Given the description of an element on the screen output the (x, y) to click on. 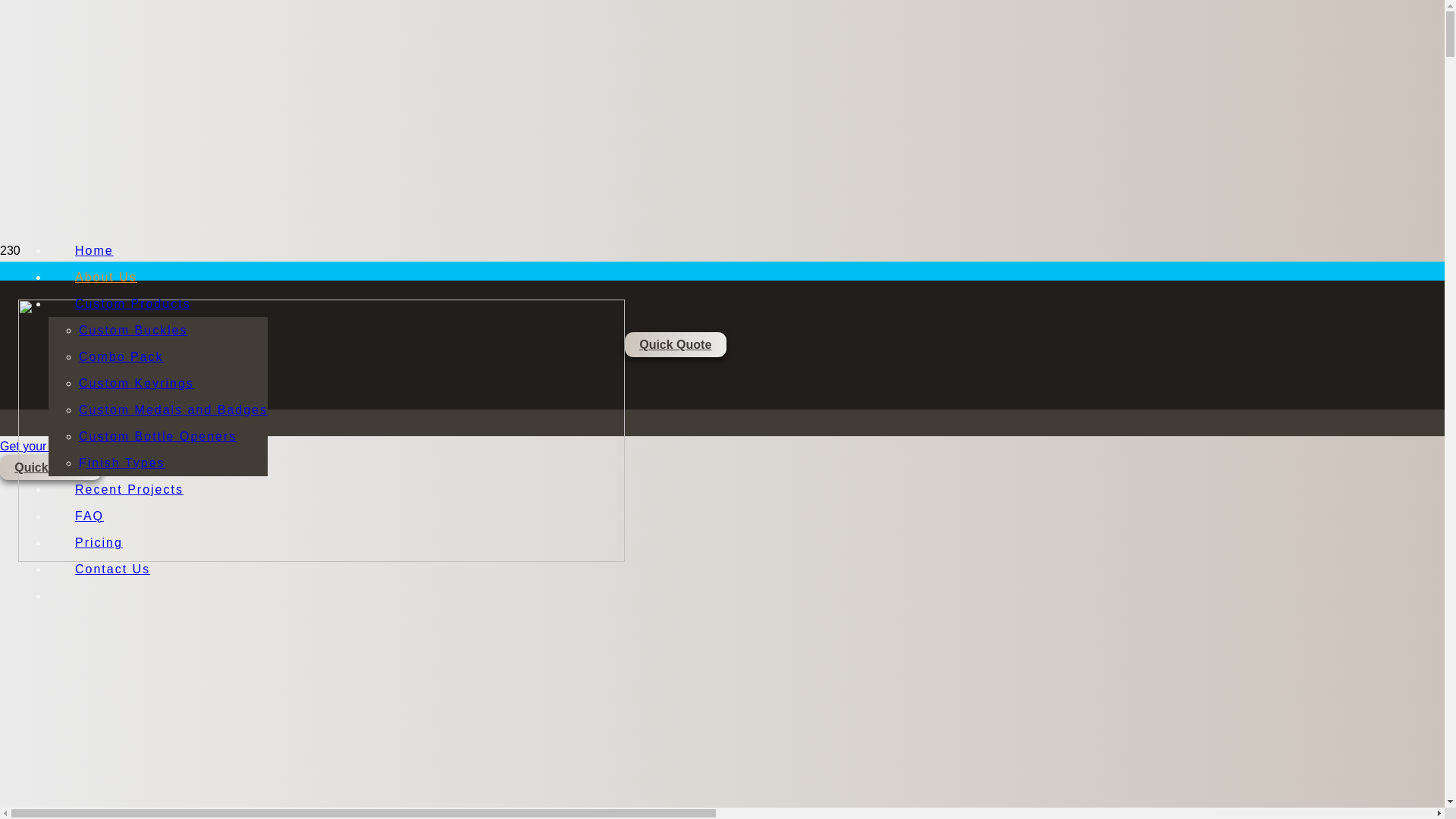
Quick Quote Element type: text (675, 344)
About Us Element type: text (105, 275)
Home Element type: text (94, 250)
Custom Bottle Openers Element type: text (157, 435)
Quick Quote Element type: text (50, 467)
Finish Types Element type: text (121, 462)
Pricing Element type: text (98, 541)
Custom Keyrings Element type: text (136, 382)
Contact Us Element type: text (112, 568)
Recent Projects Element type: text (129, 488)
FAQ Element type: text (89, 515)
Custom Medals and Badges Element type: text (172, 409)
Custom Products Element type: text (132, 303)
Get your free QUICK-QUOTE now > Element type: text (97, 445)
Custom Buckles Element type: text (133, 329)
Combo Pack Element type: text (120, 356)
